Given the description of an element on the screen output the (x, y) to click on. 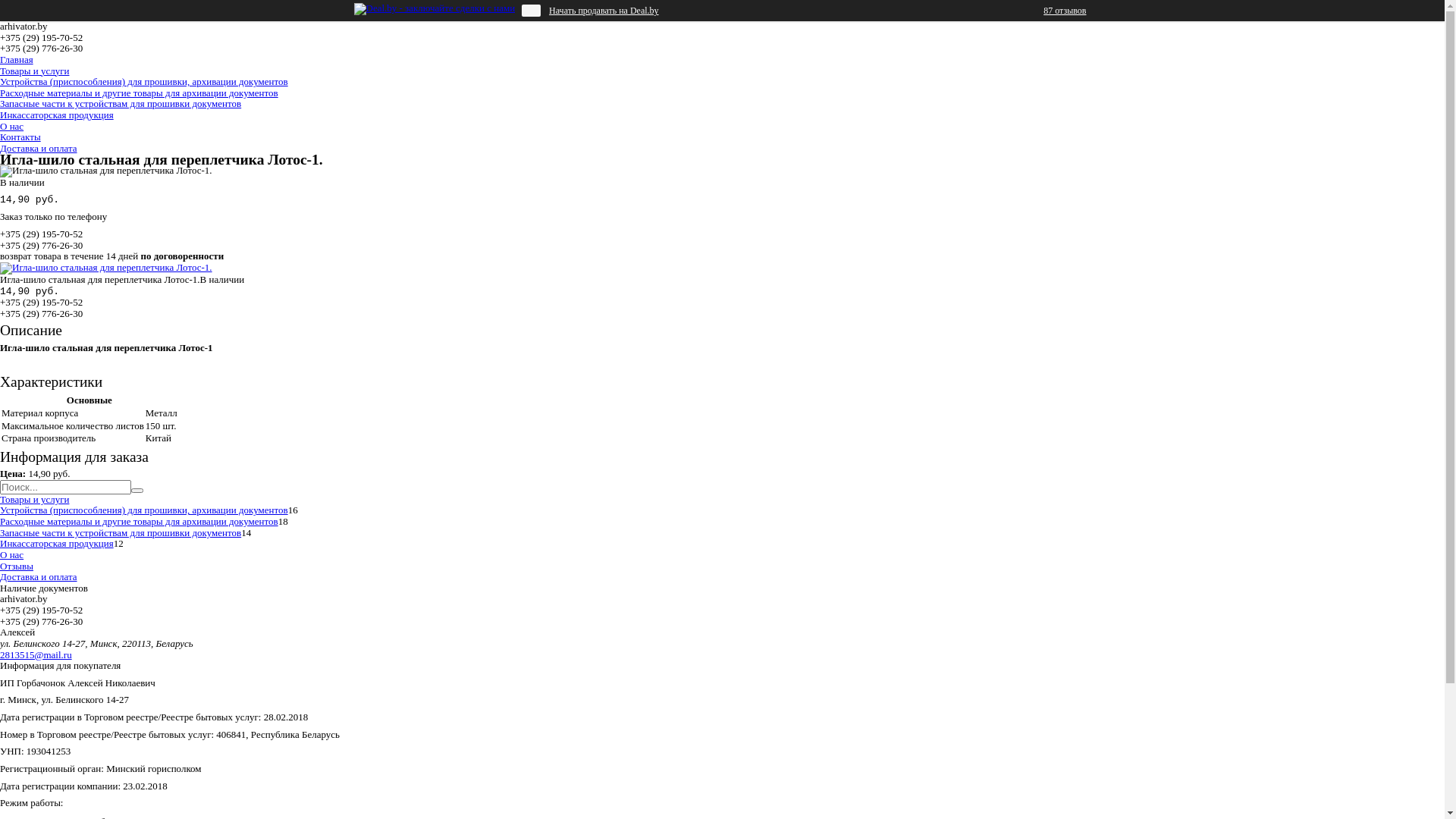
2813515@mail.ru Element type: text (36, 654)
